Given the description of an element on the screen output the (x, y) to click on. 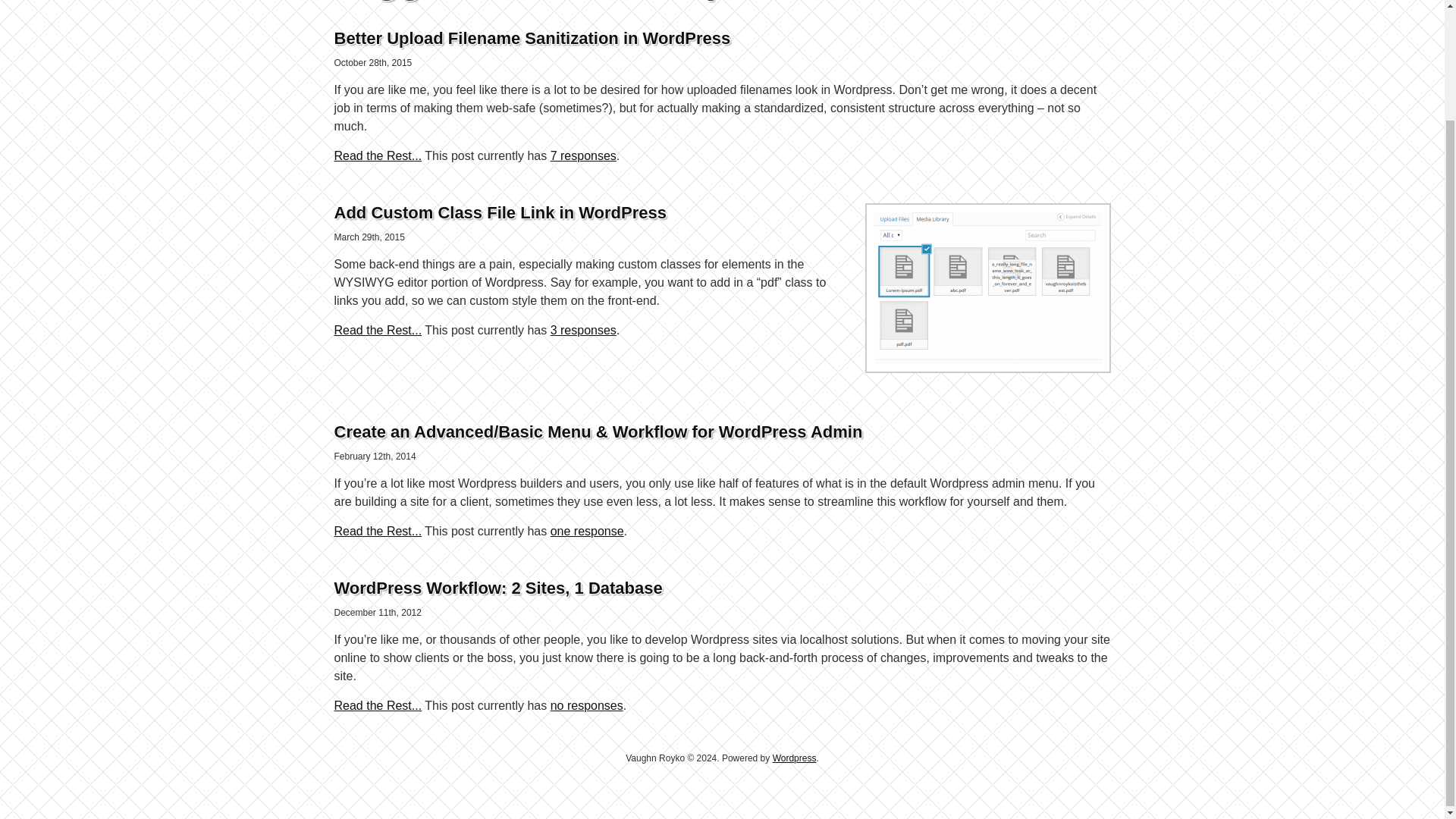
Wordpress (794, 757)
Read the Rest... (377, 705)
no responses (586, 705)
3 responses (582, 329)
7 responses (582, 155)
Read the Rest... (377, 530)
Add Custom Class File Link in WordPress (499, 212)
Better Upload Filename Sanitization in WordPress (531, 37)
Read the Rest... (377, 329)
one response (587, 530)
